Given the description of an element on the screen output the (x, y) to click on. 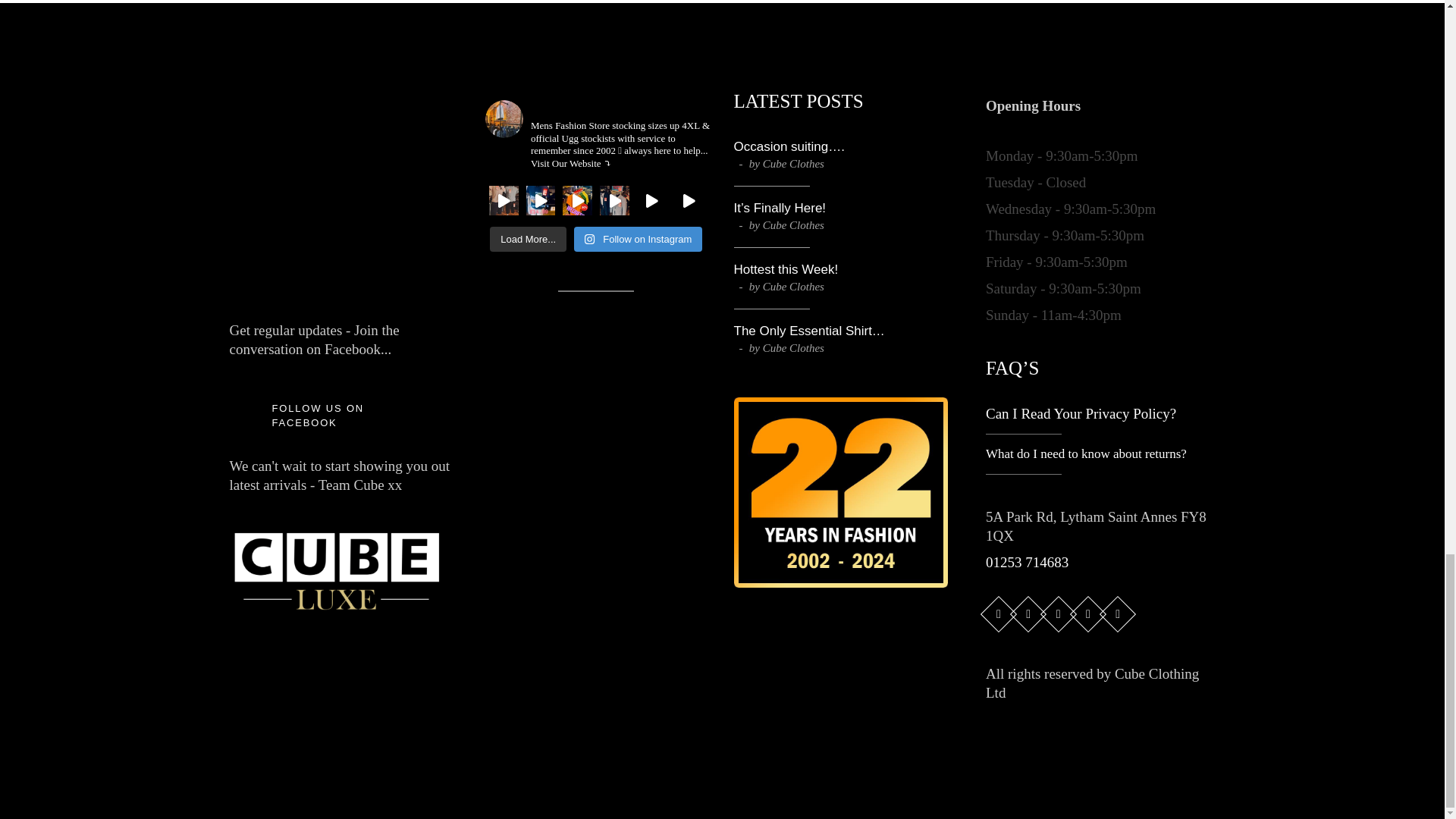
Hottest this Week! (785, 269)
